Given the description of an element on the screen output the (x, y) to click on. 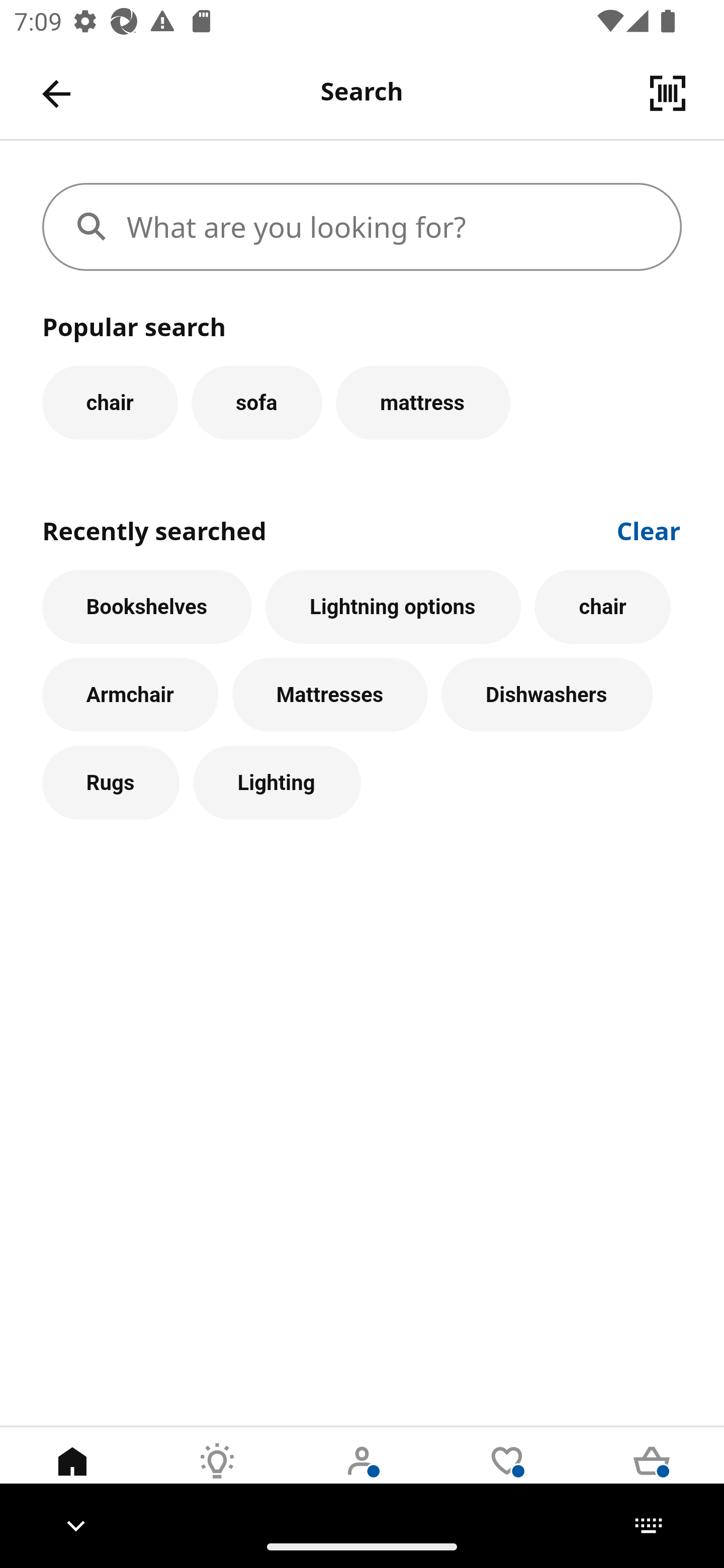
chair (109, 402)
sofa (256, 402)
mattress (423, 402)
Clear (649, 528)
Bookshelves (146, 606)
Lightning options (392, 606)
chair (602, 606)
Armchair (129, 695)
Mattresses (329, 695)
Dishwashers (547, 695)
Rugs (110, 783)
Lighting (277, 783)
Home
Tab 1 of 5 (72, 1476)
Inspirations
Tab 2 of 5 (216, 1476)
User
Tab 3 of 5 (361, 1476)
Wishlist
Tab 4 of 5 (506, 1476)
Cart
Tab 5 of 5 (651, 1476)
